Given the description of an element on the screen output the (x, y) to click on. 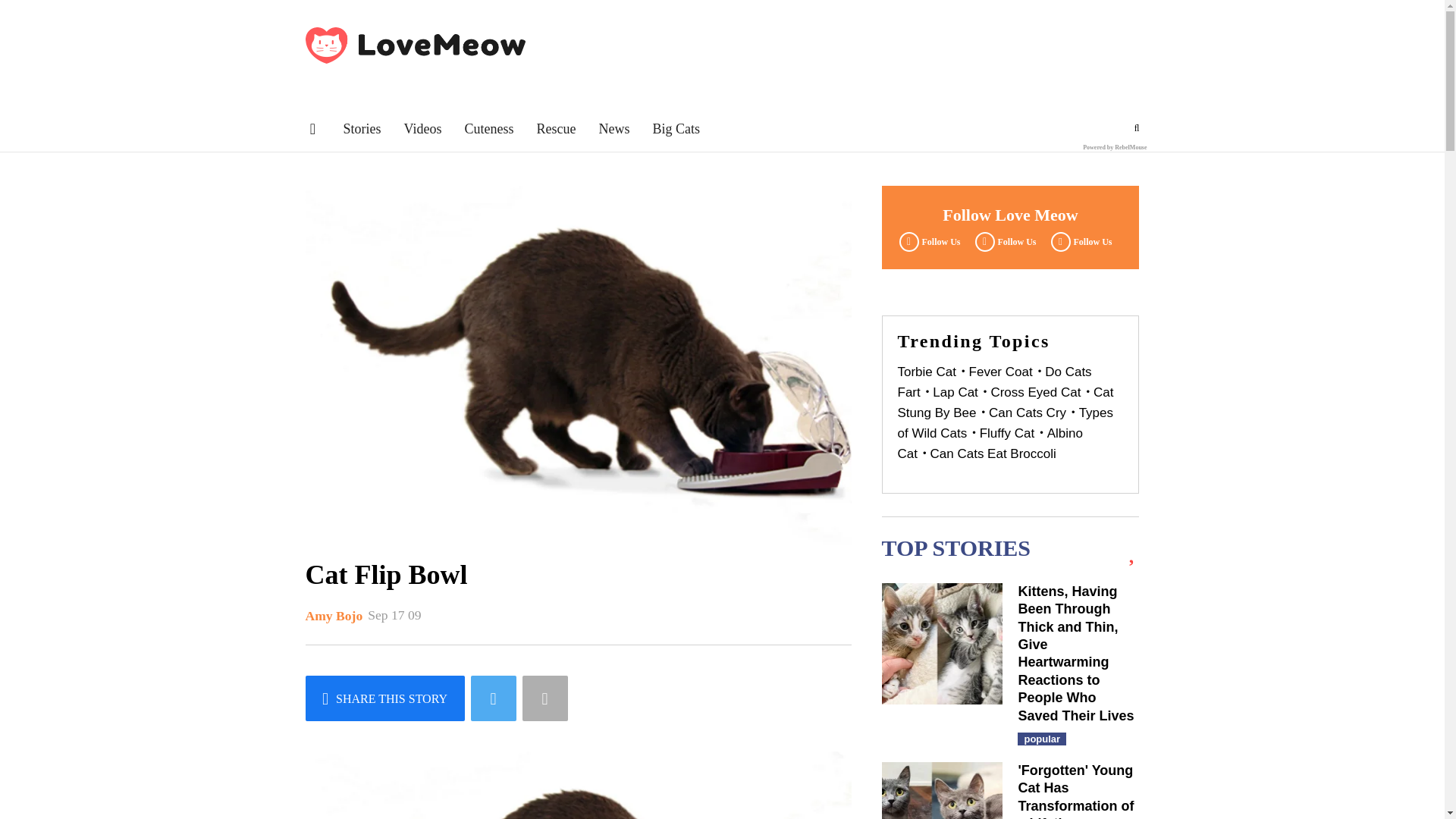
Big Cats (676, 128)
Instagram (1079, 241)
Amy Bojo (333, 616)
Facebook (926, 241)
Powered by RebelMouse (1115, 147)
Twitter (1003, 241)
Cuteness (488, 128)
Best CMS (1115, 147)
